Given the description of an element on the screen output the (x, y) to click on. 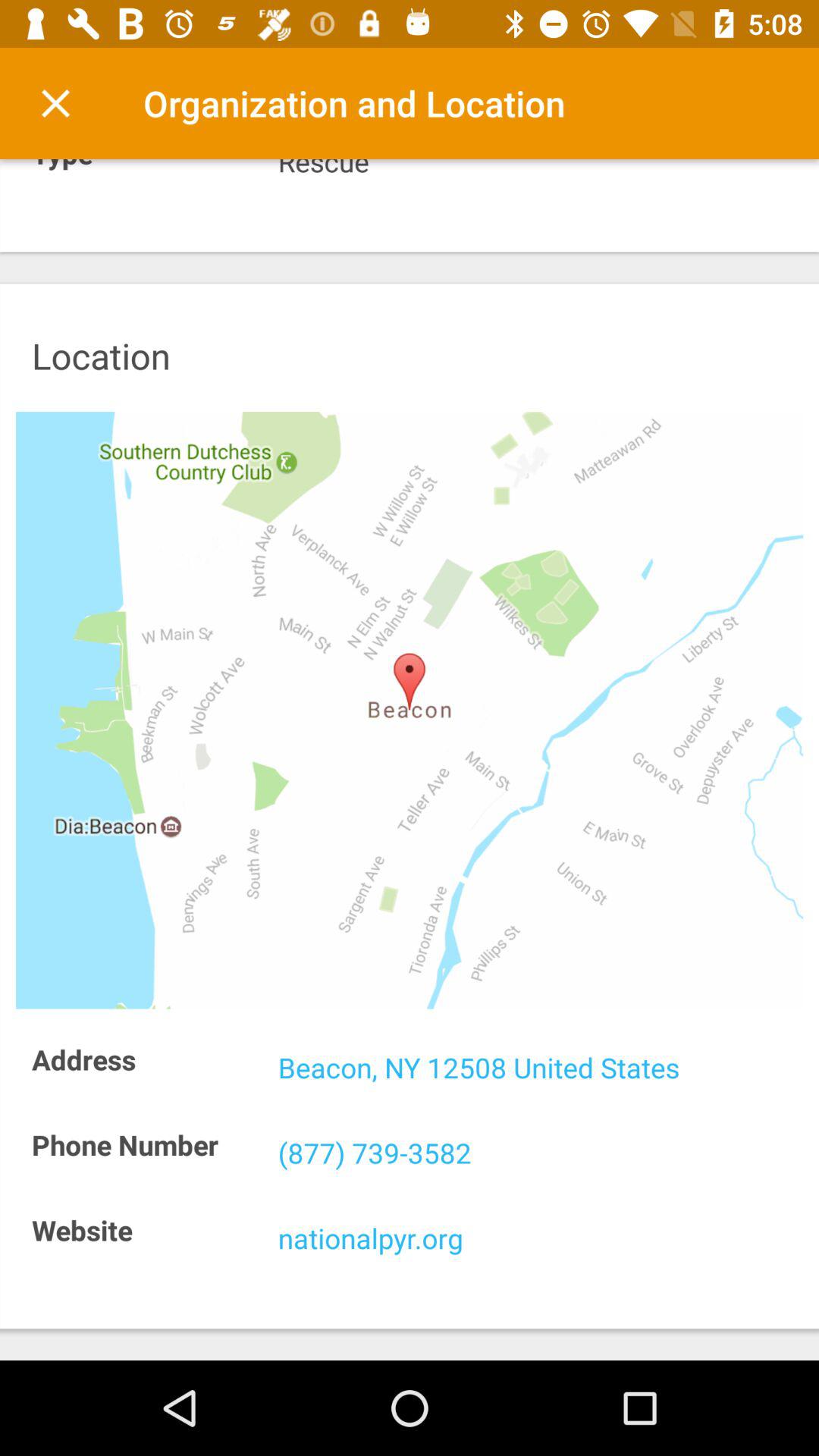
swipe to rescue item (540, 169)
